Given the description of an element on the screen output the (x, y) to click on. 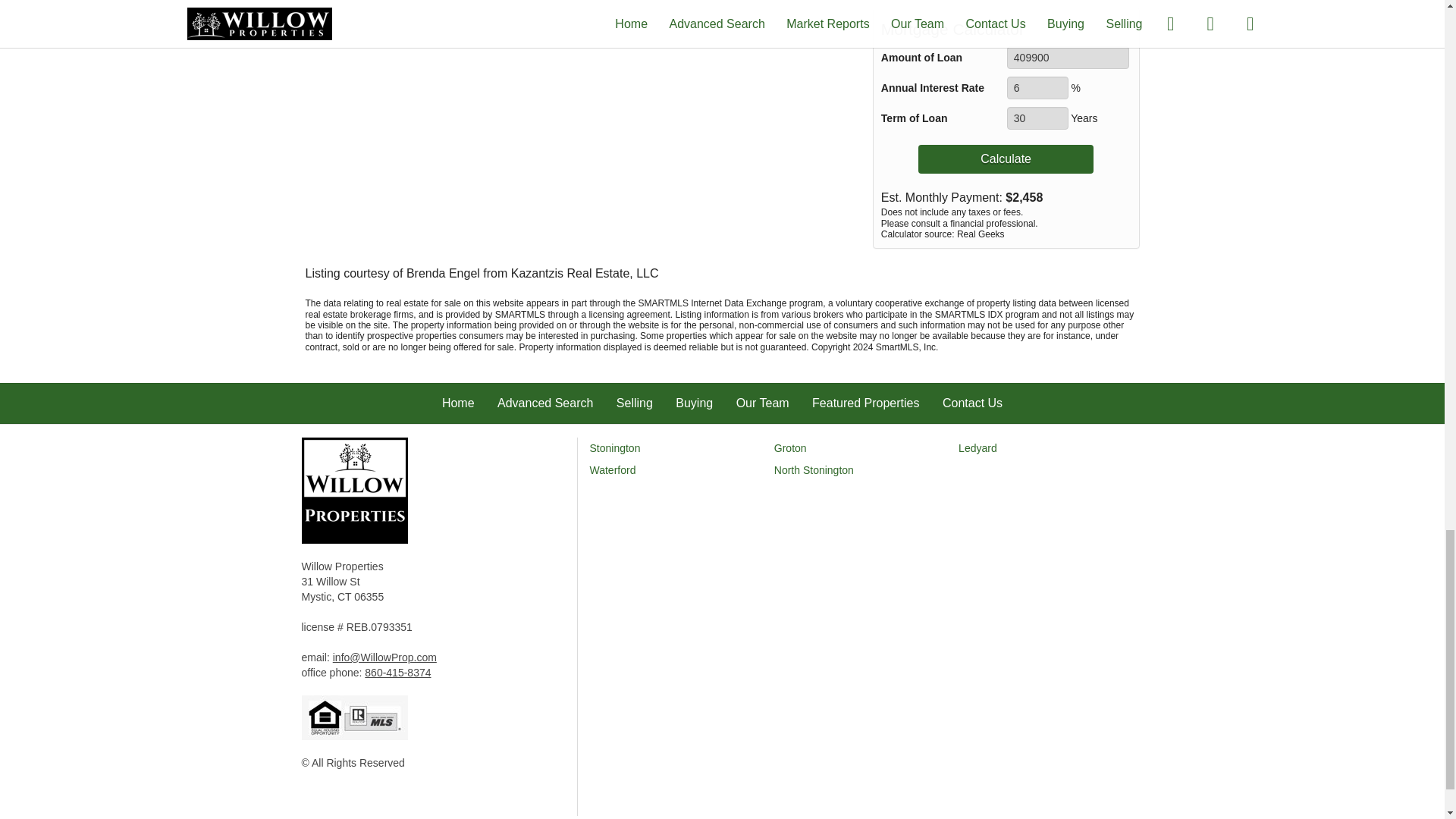
409900 (1068, 56)
30 (1037, 118)
6 (1037, 87)
Willow Info Email (384, 657)
